Given the description of an element on the screen output the (x, y) to click on. 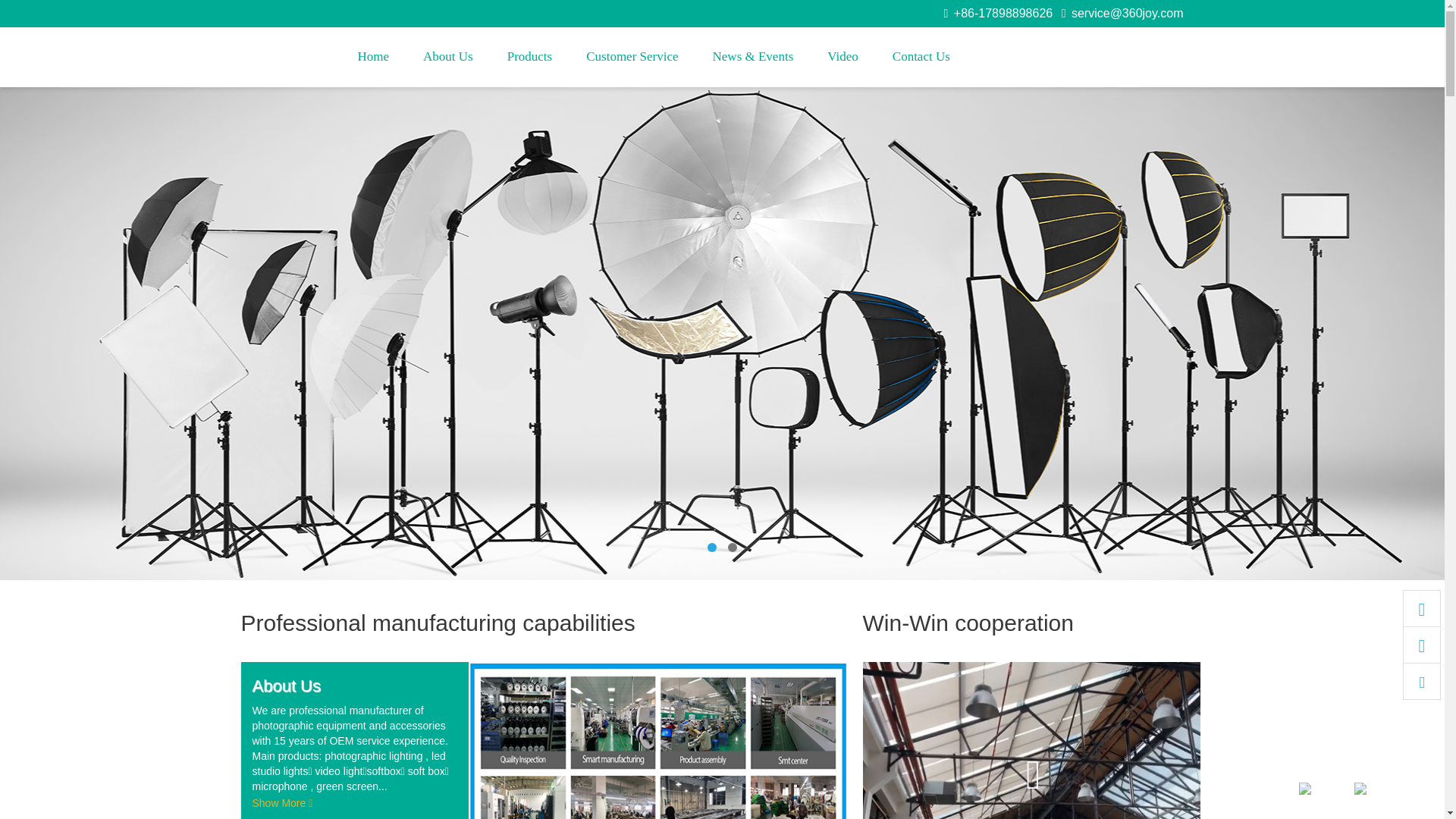
Show More Element type: text (281, 803)
News & Events Element type: text (752, 64)
Products Element type: text (529, 64)
Video Element type: text (842, 64)
About Us Element type: text (448, 64)
Home Element type: text (373, 64)
+86-17898898626 Element type: text (998, 12)
Customer Service Element type: text (631, 64)
service@360joy.com Element type: text (1122, 12)
Contact Us Element type: text (921, 64)
